Given the description of an element on the screen output the (x, y) to click on. 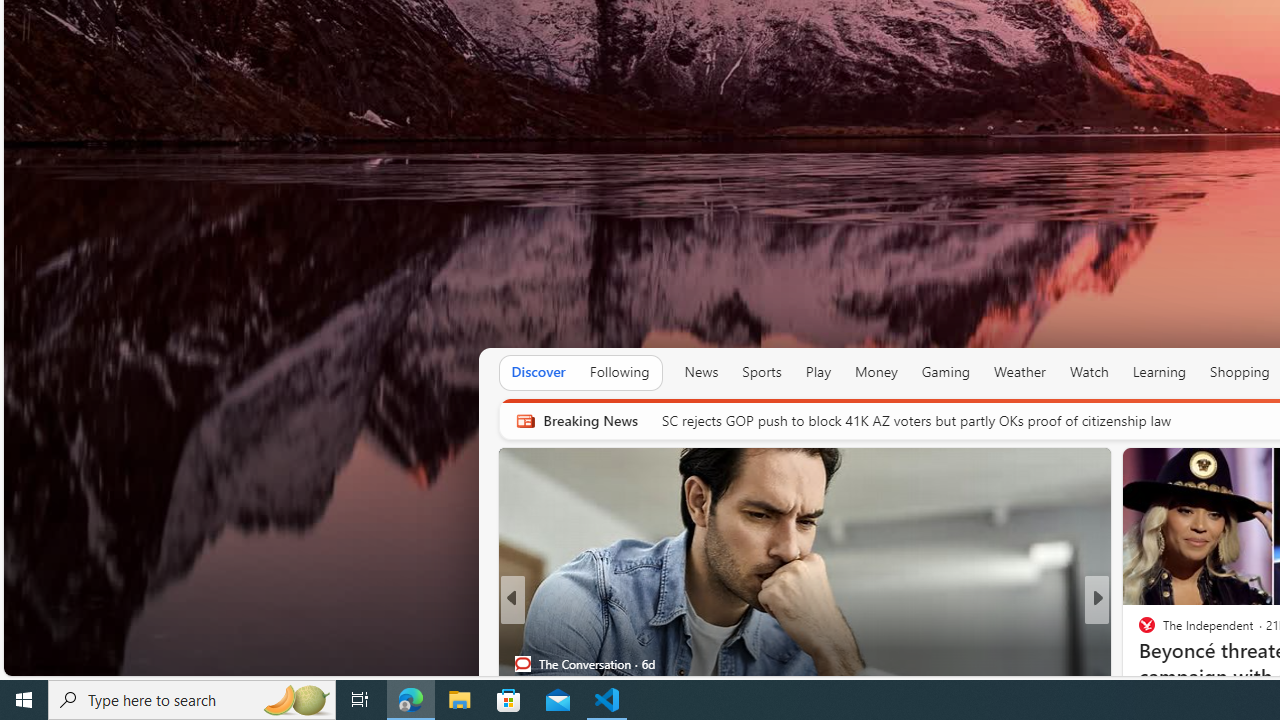
BuzzFeed (1138, 663)
